Given the description of an element on the screen output the (x, y) to click on. 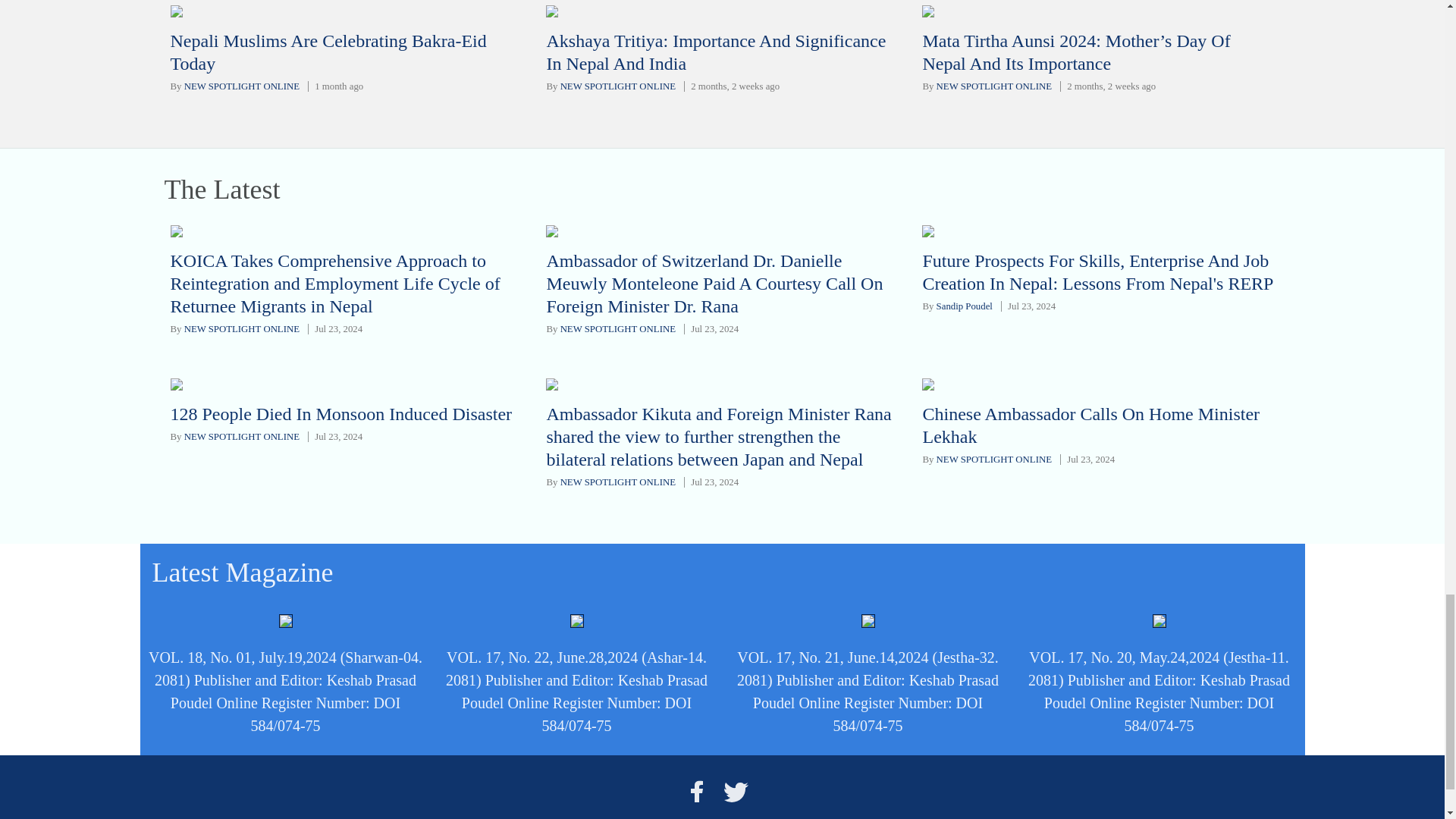
Nepali Muslims Are Celebrating Bakra-Eid Today (328, 52)
NEW SPOTLIGHT ONLINE (993, 86)
NEW SPOTLIGHT ONLINE (617, 86)
twitter icon (735, 791)
facebook icon (695, 791)
Spotlight Nepal Facebook (695, 791)
Spotlight Nepal Twitter (735, 791)
NEW SPOTLIGHT ONLINE (241, 86)
